Given the description of an element on the screen output the (x, y) to click on. 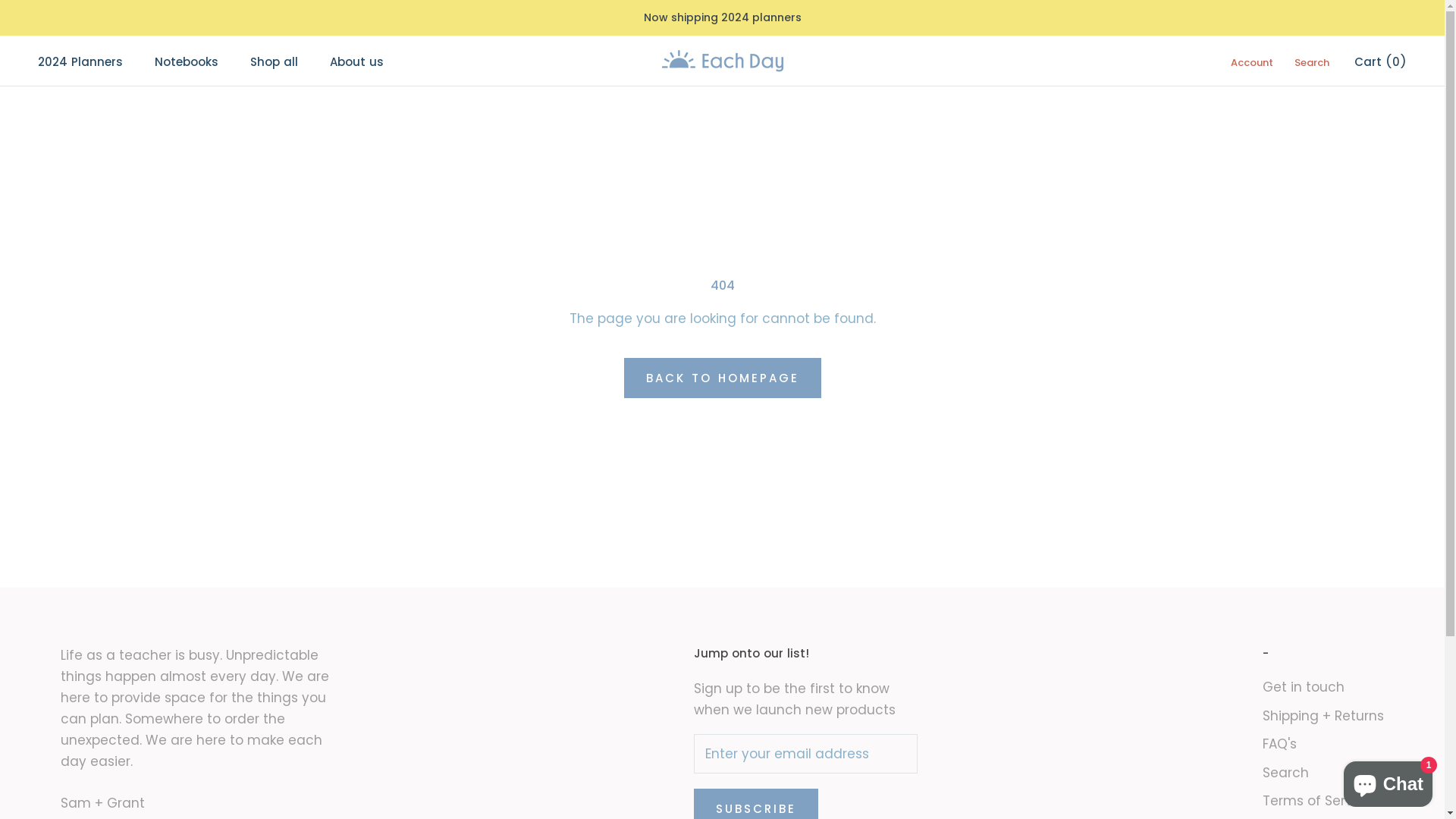
Terms of Service Element type: text (1322, 801)
Shipping + Returns Element type: text (1322, 716)
Search Element type: text (1322, 773)
Search Element type: text (1311, 62)
FAQ's Element type: text (1322, 744)
Account Element type: text (1251, 62)
Shopify online store chat Element type: hover (1388, 780)
Cart (0) Element type: text (1380, 61)
About us
About us Element type: text (356, 61)
Notebooks
Notebooks Element type: text (186, 61)
2024 Planners
2024 Planners Element type: text (79, 61)
Get in touch Element type: text (1322, 687)
BACK TO HOMEPAGE Element type: text (721, 377)
Now shipping 2024 planners Element type: text (721, 17)
Shop all
Shop all Element type: text (274, 61)
